Given the description of an element on the screen output the (x, y) to click on. 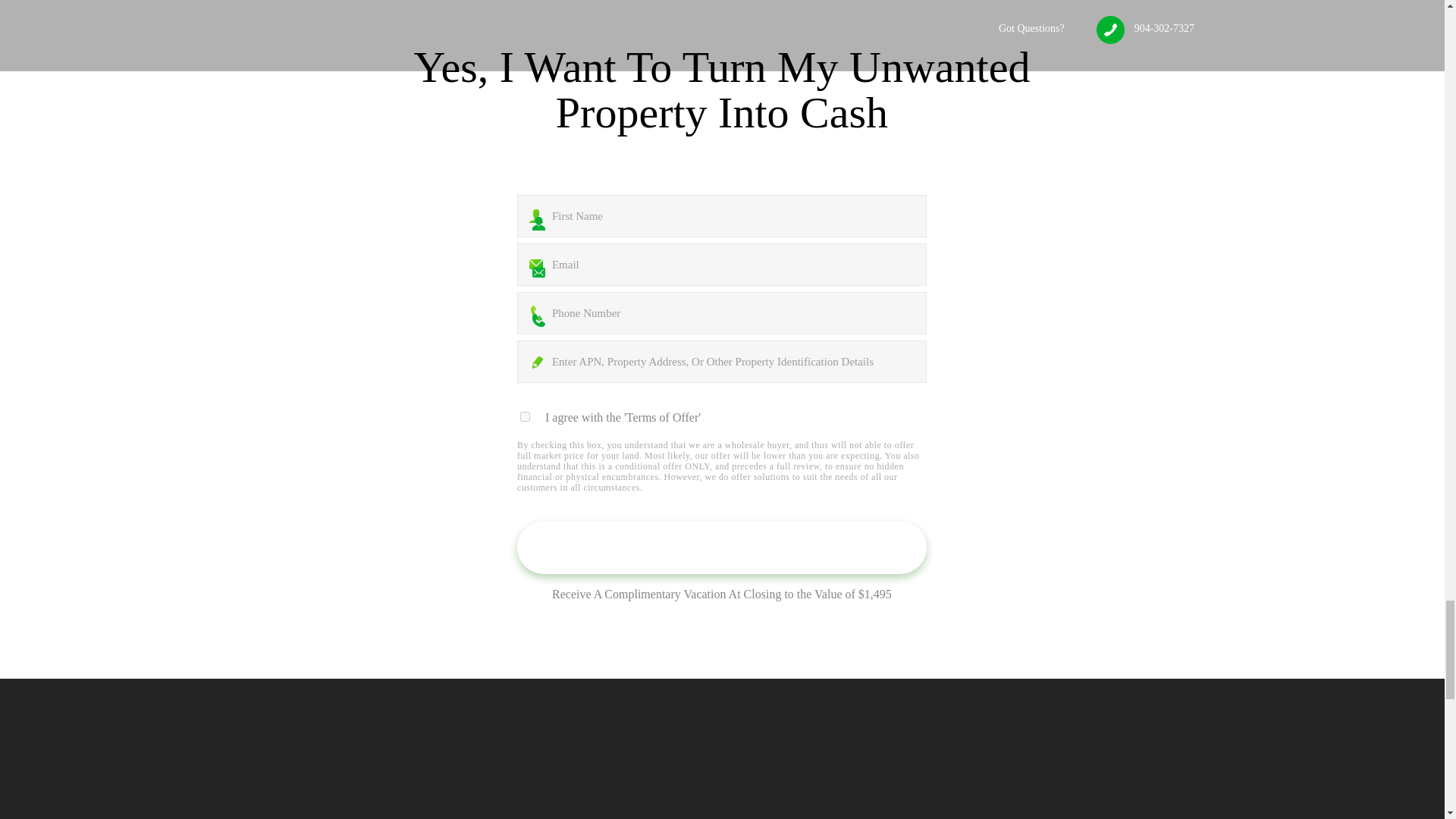
on (524, 416)
Get a cash offer fast (721, 547)
Get a cash offer fast (721, 547)
